Given the description of an element on the screen output the (x, y) to click on. 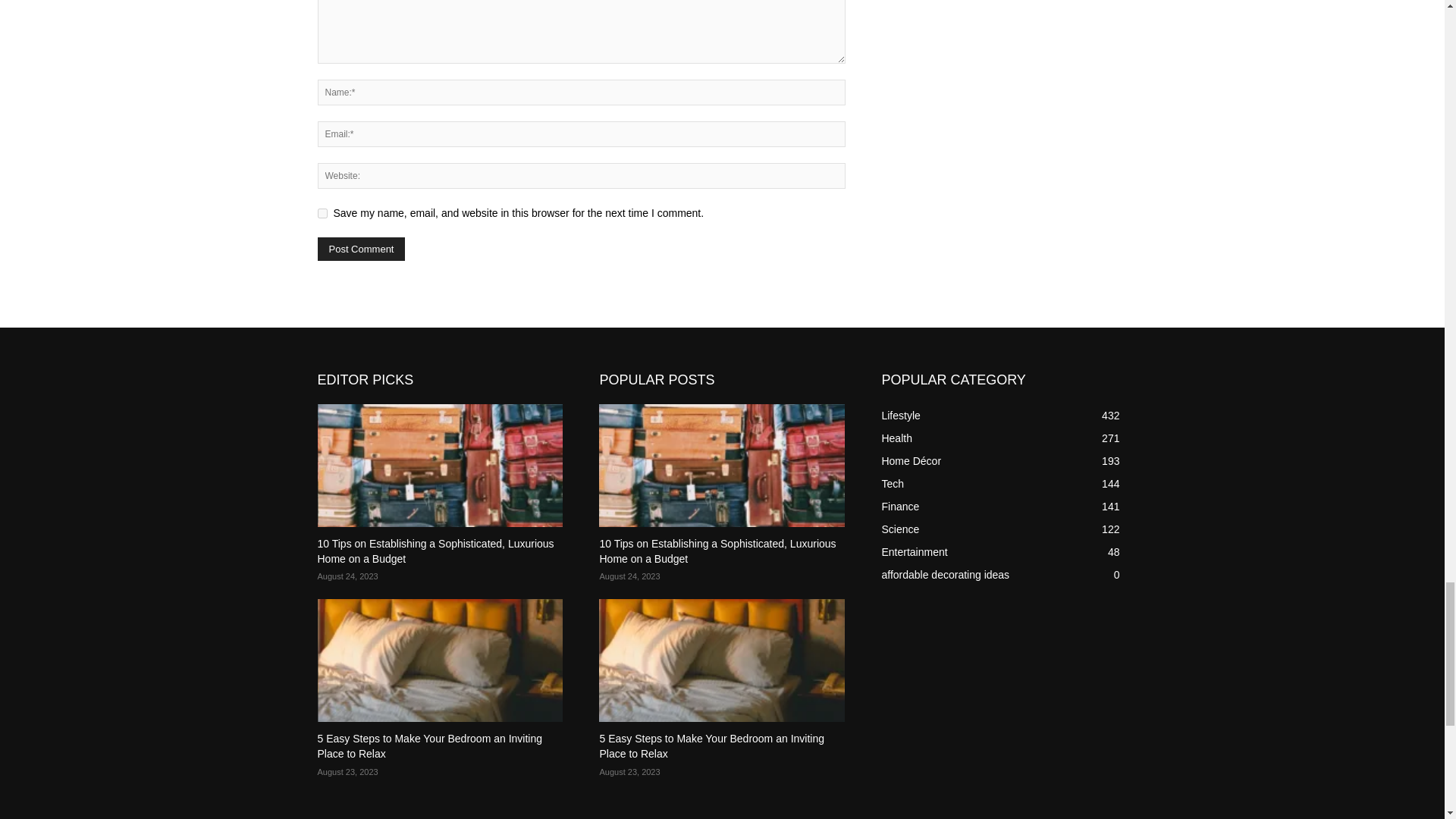
yes (321, 213)
Post Comment (360, 249)
